Given the description of an element on the screen output the (x, y) to click on. 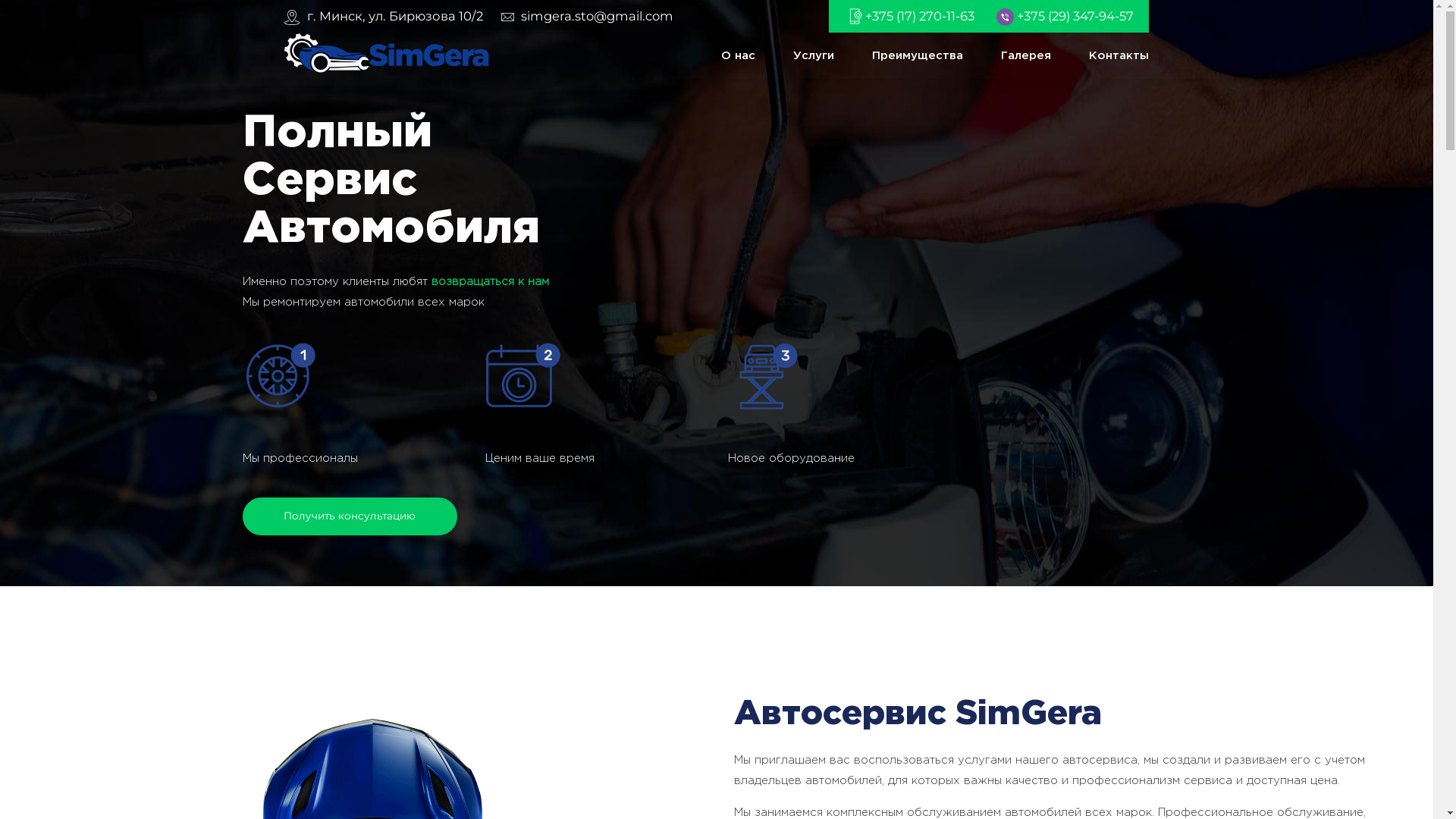
simgera.sto@gmail.com Element type: text (589, 16)
+375 (29) 347-94-57 Element type: text (1074, 15)
+375 (17) 270-11-63 Element type: text (919, 15)
Viber Element type: hover (1004, 15)
